Given the description of an element on the screen output the (x, y) to click on. 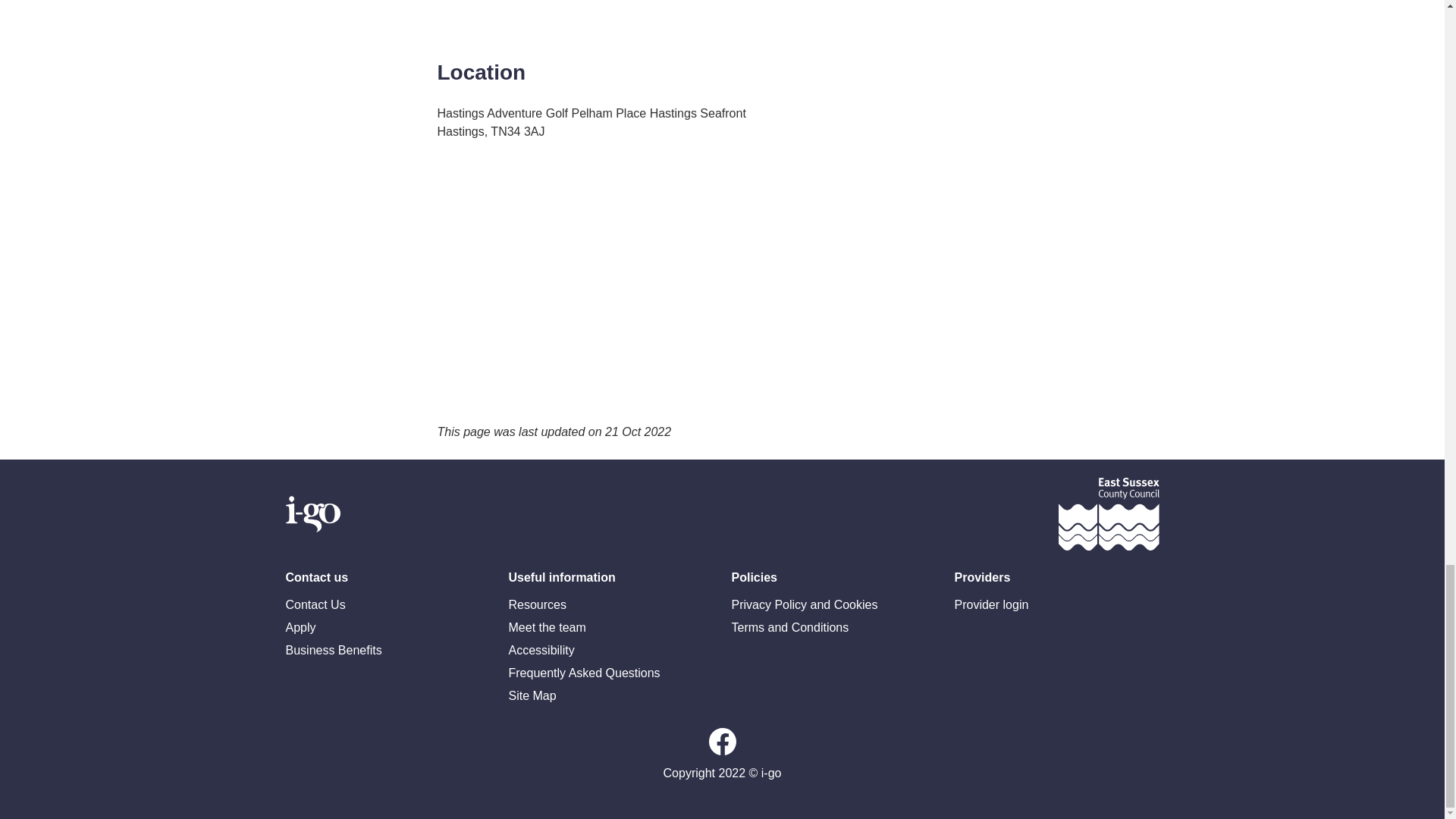
Apply (387, 628)
Site Map (610, 696)
Frequently Asked Questions (610, 673)
Resources (610, 605)
Contact Us (387, 605)
Business Benefits (387, 650)
Accessibility (610, 650)
Meet the team (610, 628)
